Given the description of an element on the screen output the (x, y) to click on. 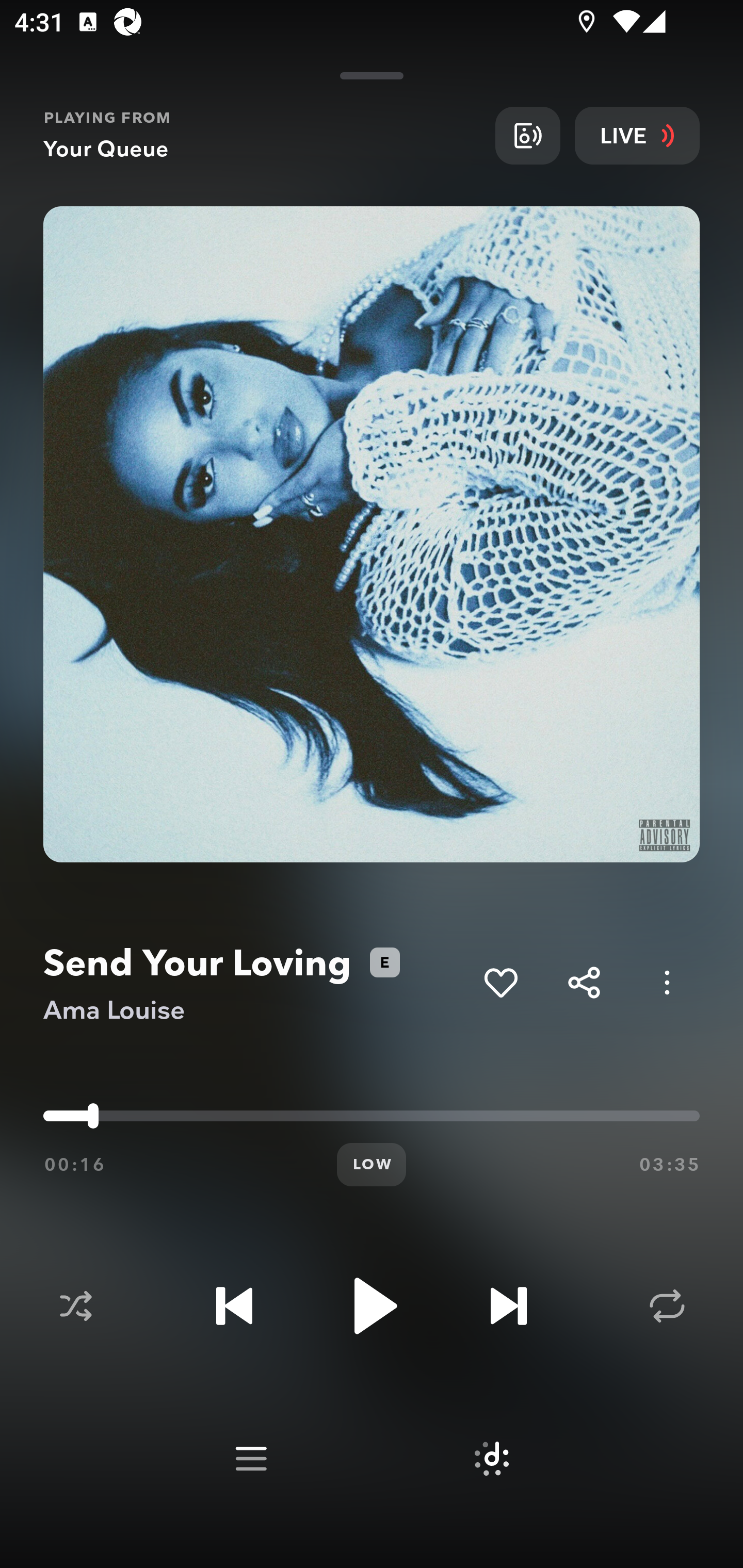
Broadcast (527, 135)
LIVE (637, 135)
PLAYING FROM Your Queue (261, 135)
Send Your Loving    Ama Louise (255, 983)
Add to My Collection (500, 982)
Share (583, 982)
Options (666, 982)
LOW (371, 1164)
Play (371, 1306)
Previous (234, 1306)
Next (508, 1306)
Shuffle disabled (75, 1306)
Repeat Off (666, 1306)
Play queue (250, 1458)
Suggested tracks (491, 1458)
